Given the description of an element on the screen output the (x, y) to click on. 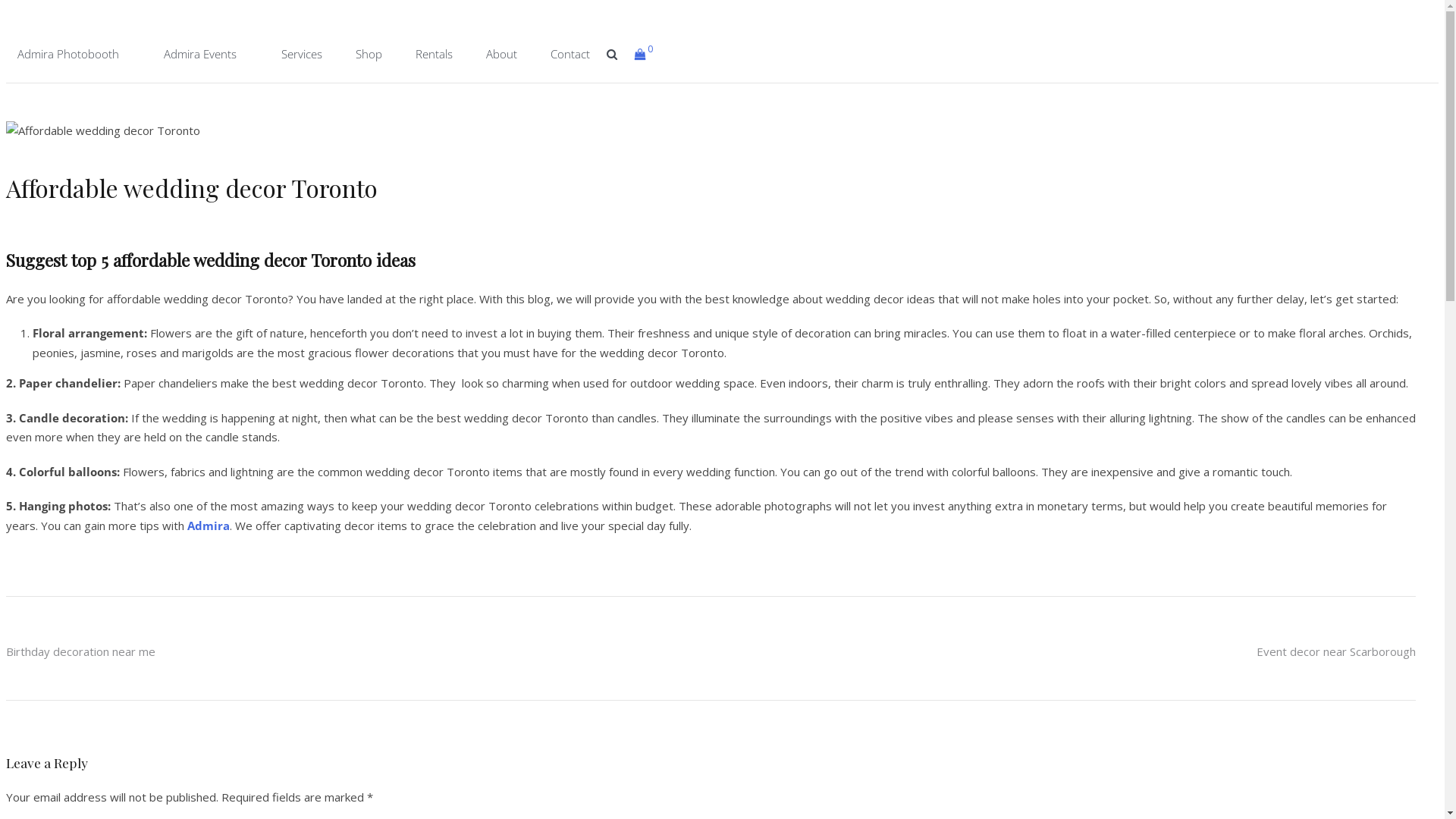
Gallery Element type: text (101, 185)
Magic Mirror Element type: text (101, 87)
Decor Booking Element type: text (247, 284)
Admira Events Element type: text (199, 53)
Contact Element type: text (569, 53)
Shop Element type: text (368, 53)
Specialty Element type: text (247, 120)
Admira Element type: text (208, 525)
Shop Element type: text (247, 250)
Birthday decoration near me Element type: text (80, 650)
Booking Element type: text (101, 153)
Rentals Element type: text (433, 53)
Events Element type: text (247, 87)
0 Element type: text (642, 52)
Packages Element type: text (247, 153)
Event decor near Scarborough Element type: text (1335, 650)
I Mirror Element type: text (101, 120)
Rentals Element type: text (247, 218)
Why us Element type: text (101, 218)
About Element type: text (501, 53)
SEARCH BUTTON Element type: text (612, 53)
Gallery Element type: text (247, 185)
Services Element type: text (301, 53)
Admira Photobooth Element type: text (68, 53)
